Given the description of an element on the screen output the (x, y) to click on. 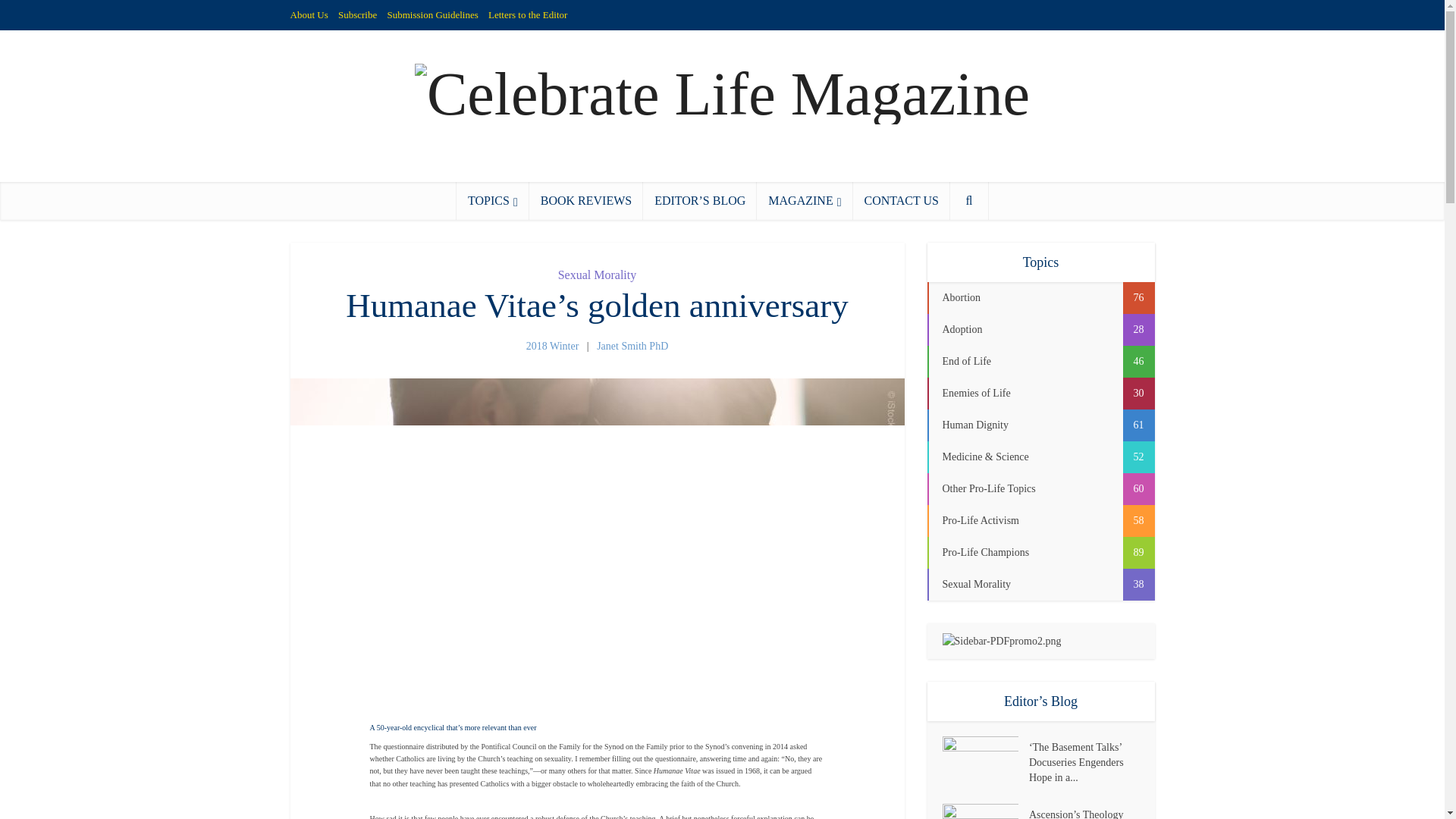
BOOK REVIEWS (586, 200)
TOPICS (493, 200)
About Us (308, 14)
MAGAZINE (804, 200)
CONTACT US (900, 200)
Letters to the Editor (527, 14)
Submission Guidelines (432, 14)
Subscribe (357, 14)
